Given the description of an element on the screen output the (x, y) to click on. 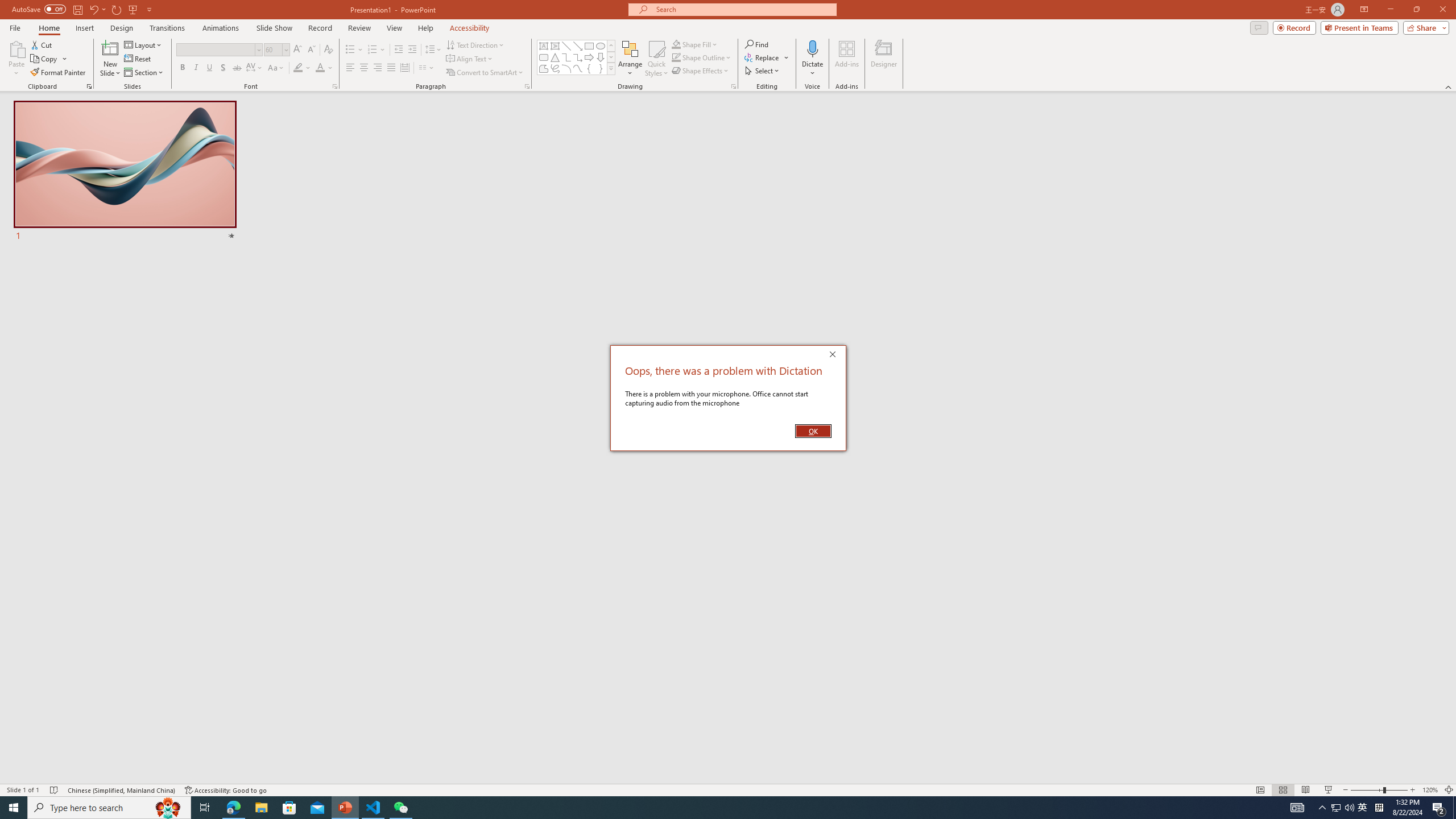
WeChat - 1 running window (400, 807)
Zoom 120% (1430, 790)
Shape Fill Orange, Accent 2 (675, 44)
